Given the description of an element on the screen output the (x, y) to click on. 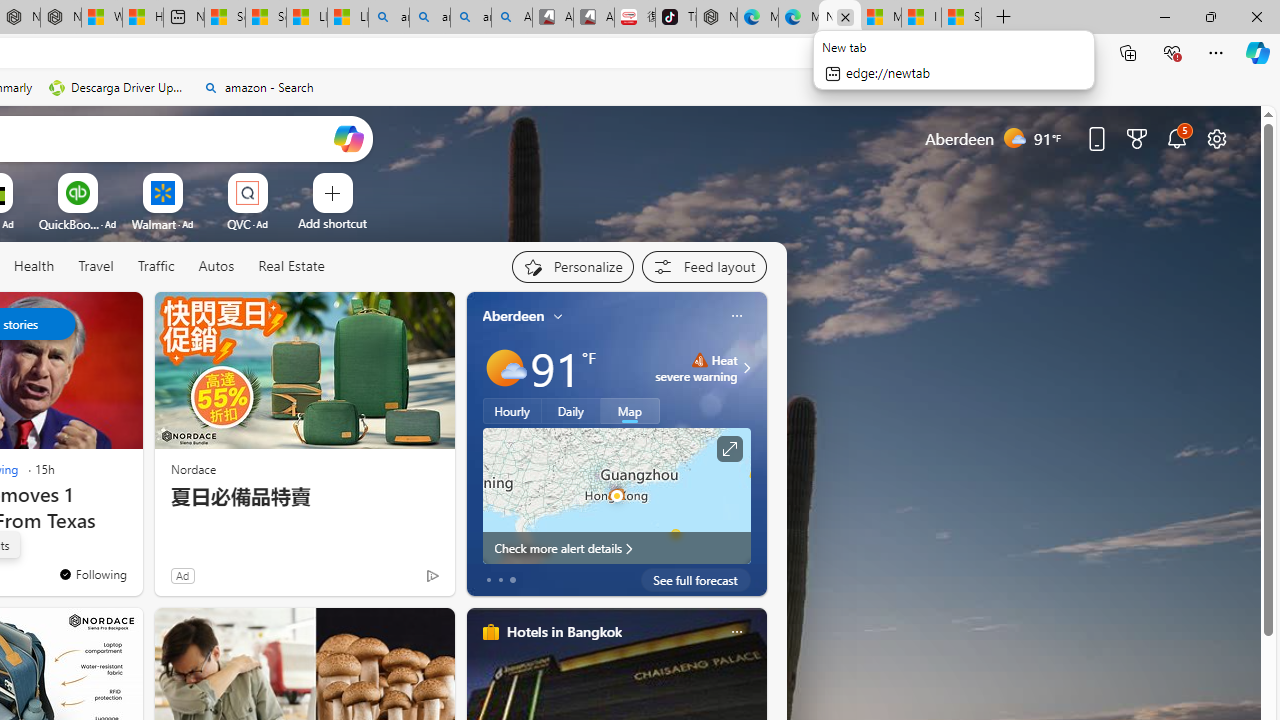
You're following Newsweek (92, 573)
Wildlife - MSN (101, 17)
amazon - Search (258, 88)
Mostly sunny (504, 368)
Split screen (1083, 52)
tab-1 (500, 579)
Hotels in Bangkok (563, 631)
Huge shark washes ashore at New York City beach | Watch (142, 17)
tab-2 (511, 579)
See full forecast (695, 579)
